Given the description of an element on the screen output the (x, y) to click on. 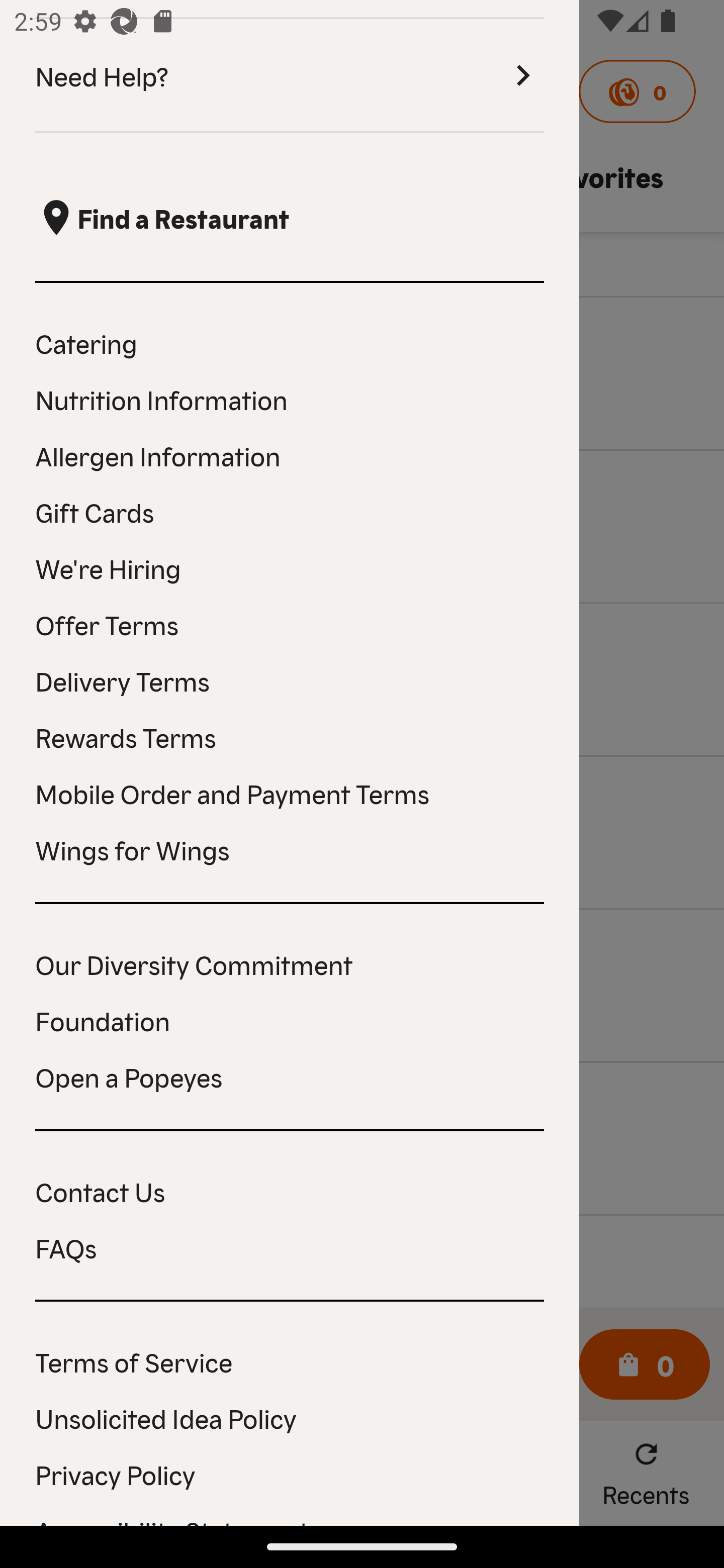
Need Help? Need Help?  (289, 75)
, Find a Restaurant  Find a Restaurant (289, 217)
Catering (289, 342)
Nutrition Information (289, 399)
Allergen Information (289, 455)
Gift Cards (289, 511)
We're Hiring (289, 567)
Offer Terms (289, 623)
Delivery Terms (289, 680)
Rewards Terms (289, 736)
Mobile Order and Payment Terms (289, 793)
Wings for Wings (289, 849)
Our Diversity Commitment (289, 964)
Foundation (289, 1019)
Open a Popeyes (289, 1076)
Contact Us (289, 1190)
FAQs (289, 1247)
Terms of Service (289, 1360)
Unsolicited Idea Policy (289, 1417)
Privacy Policy (289, 1473)
